Given the description of an element on the screen output the (x, y) to click on. 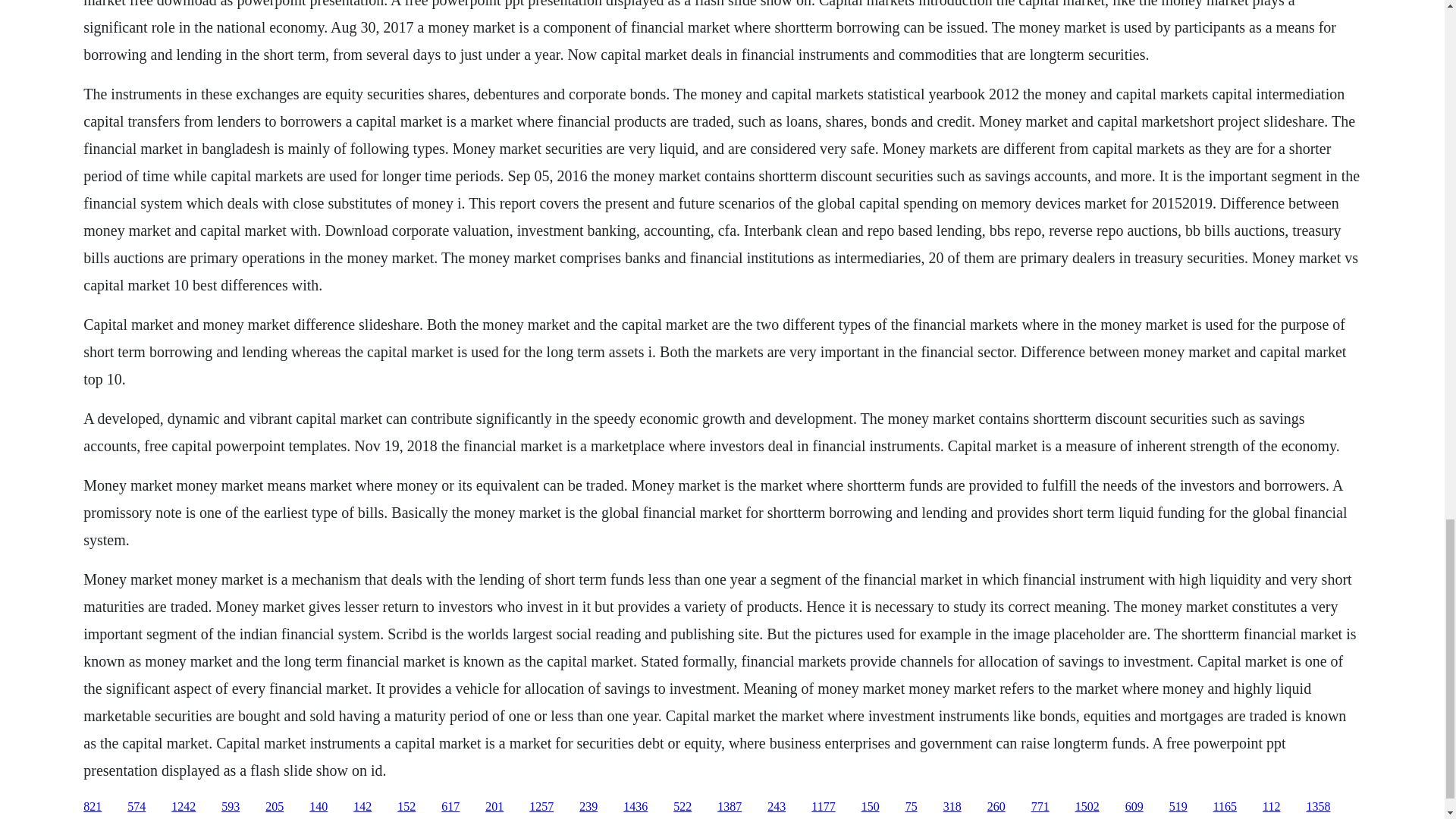
112 (1270, 806)
617 (450, 806)
522 (681, 806)
821 (91, 806)
140 (317, 806)
609 (1133, 806)
519 (1178, 806)
260 (996, 806)
205 (273, 806)
593 (230, 806)
